Given the description of an element on the screen output the (x, y) to click on. 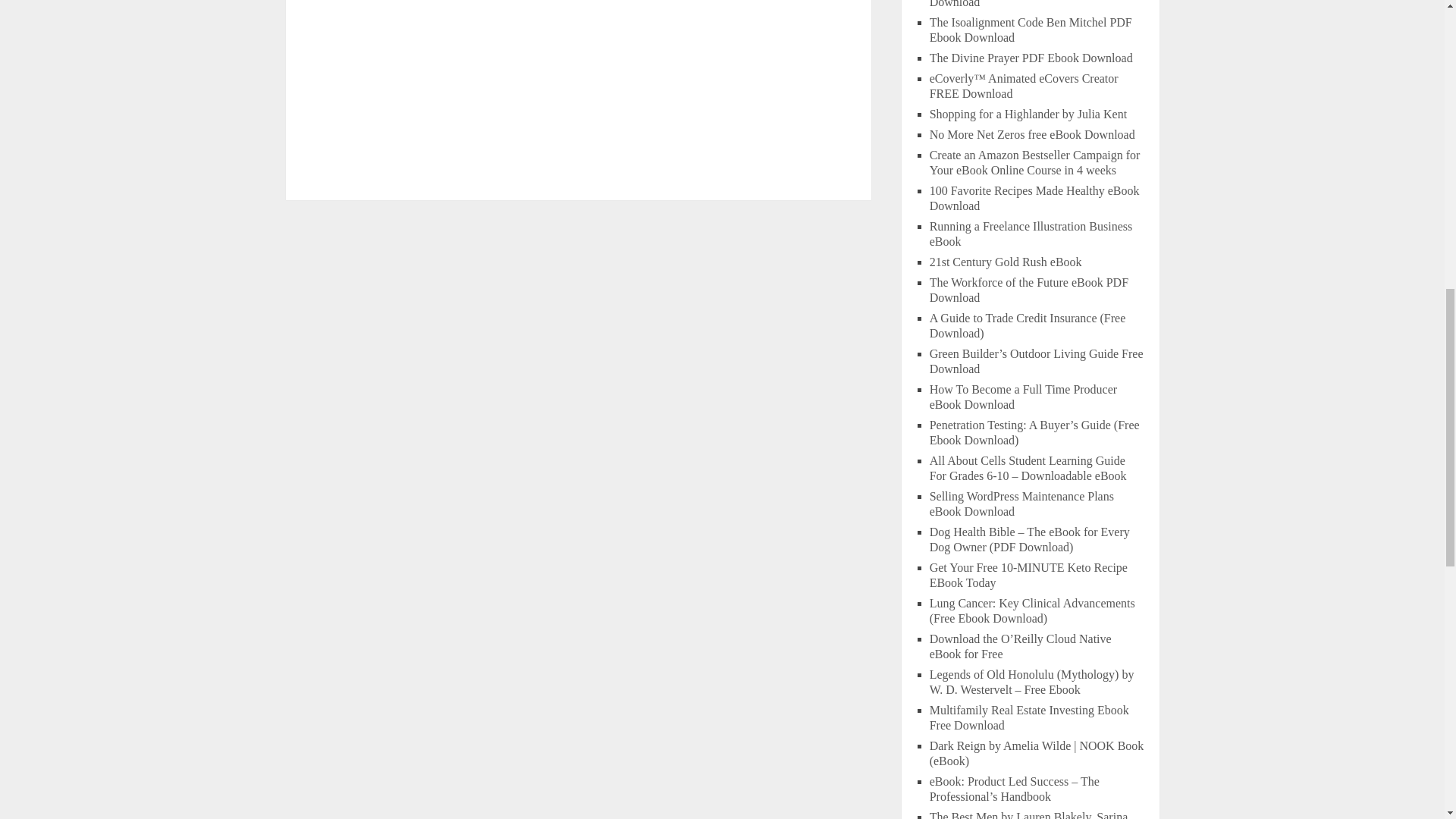
The Isoalignment Code Ben Mitchel PDF Ebook Download (1031, 29)
Shopping for a Highlander by Julia Kent (1028, 113)
Running a Freelance Illustration Business eBook (1031, 234)
The Genius Wave James Rivers PDF Ebook Download (1036, 4)
The Divine Prayer PDF Ebook Download (1031, 57)
No More Net Zeros free eBook Download (1032, 133)
100 Favorite Recipes Made Healthy eBook Download (1035, 198)
